Given the description of an element on the screen output the (x, y) to click on. 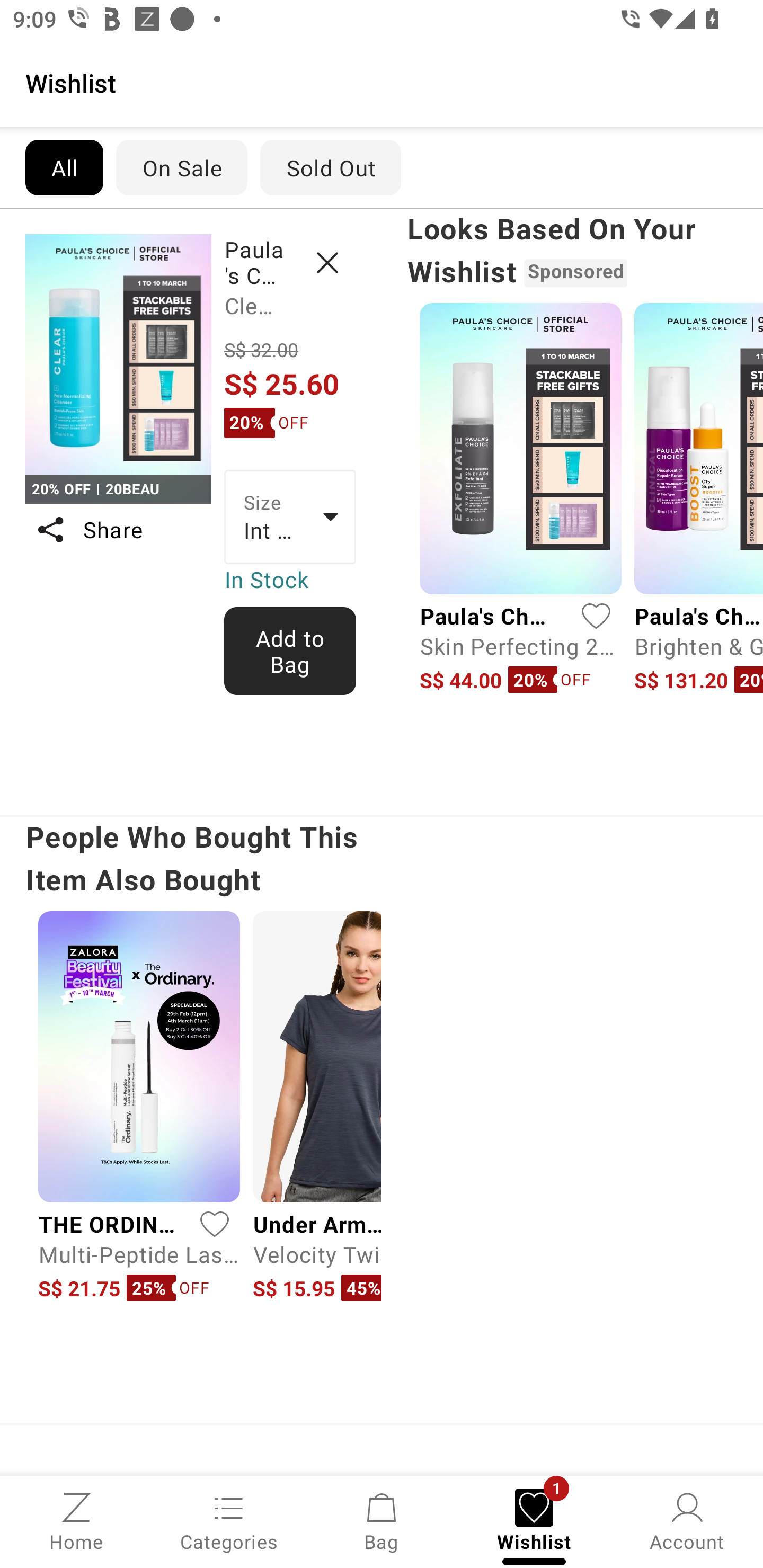
Wishlist (381, 82)
All (64, 167)
On Sale (181, 167)
Sold Out (330, 167)
Size Int 177 ml (290, 517)
Share (118, 529)
Add to Bag (290, 650)
Home (76, 1519)
Categories (228, 1519)
Bag (381, 1519)
Account (686, 1519)
